Given the description of an element on the screen output the (x, y) to click on. 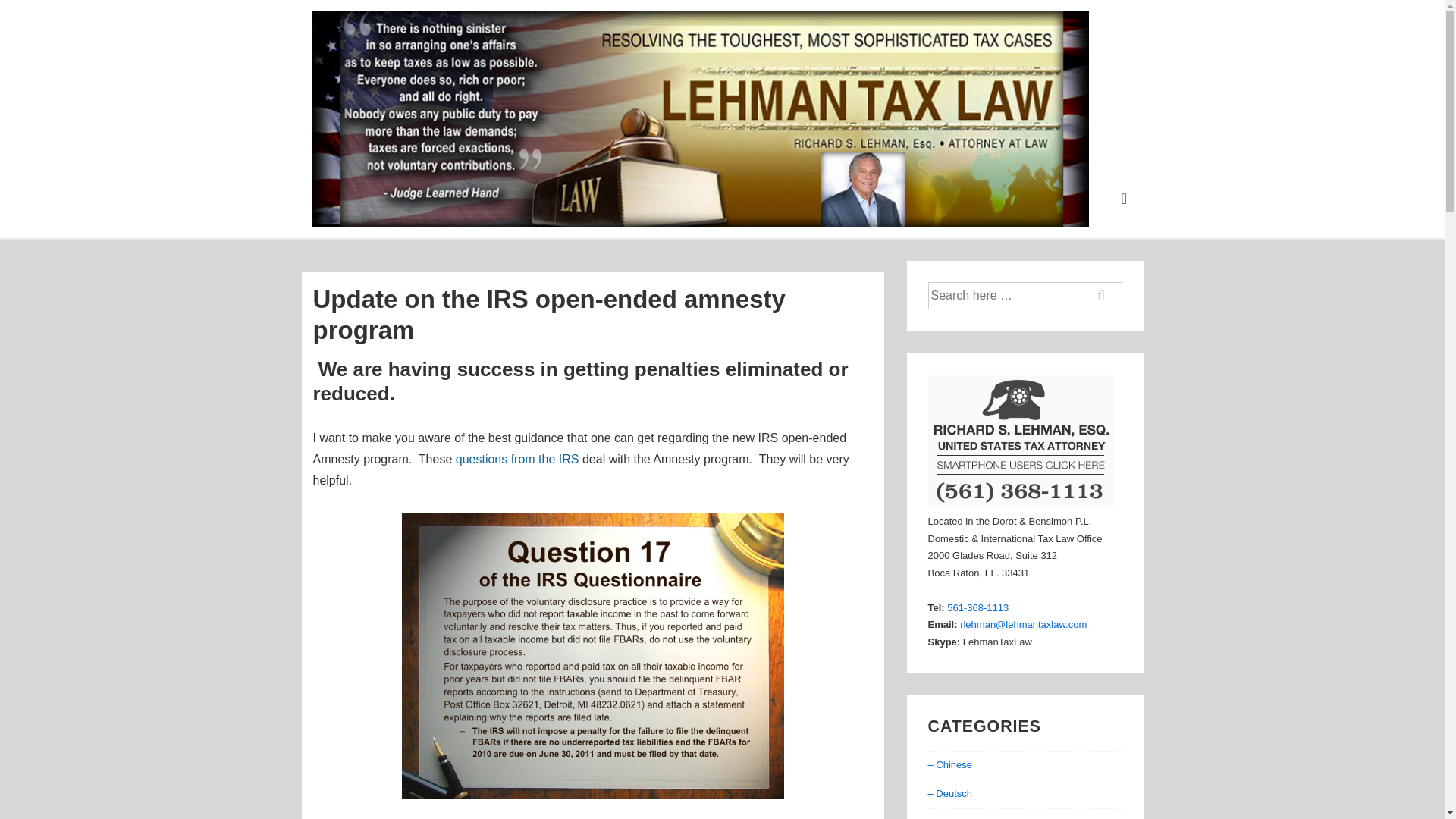
561-368-1113 (978, 607)
questions from the IRS (517, 458)
Telephone (978, 607)
IRS guidance on new open-ended amnesty program (592, 655)
you will be directed to IRS.gov (517, 458)
MENU (1123, 198)
Contact Richard Lehman via email (1022, 624)
